Given the description of an element on the screen output the (x, y) to click on. 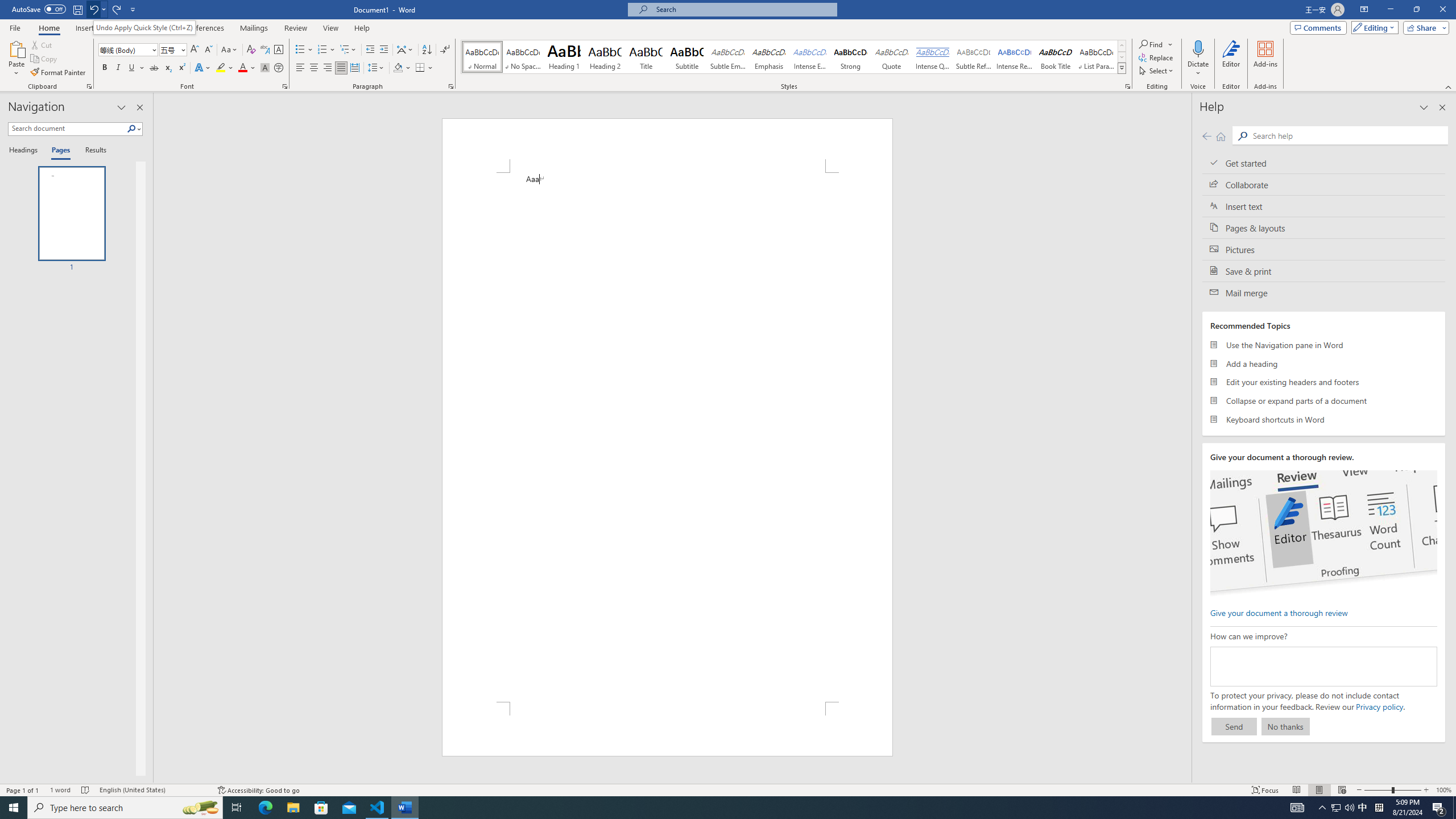
Increase Indent (383, 49)
AutomationID: QuickStylesGallery (794, 56)
Character Shading (264, 67)
Undo Apply Quick Style (Ctrl+Z) (144, 27)
Strong (849, 56)
Intense Reference (1014, 56)
Subtle Emphasis (727, 56)
Emphasis (768, 56)
No thanks (1285, 726)
Quote (891, 56)
